Given the description of an element on the screen output the (x, y) to click on. 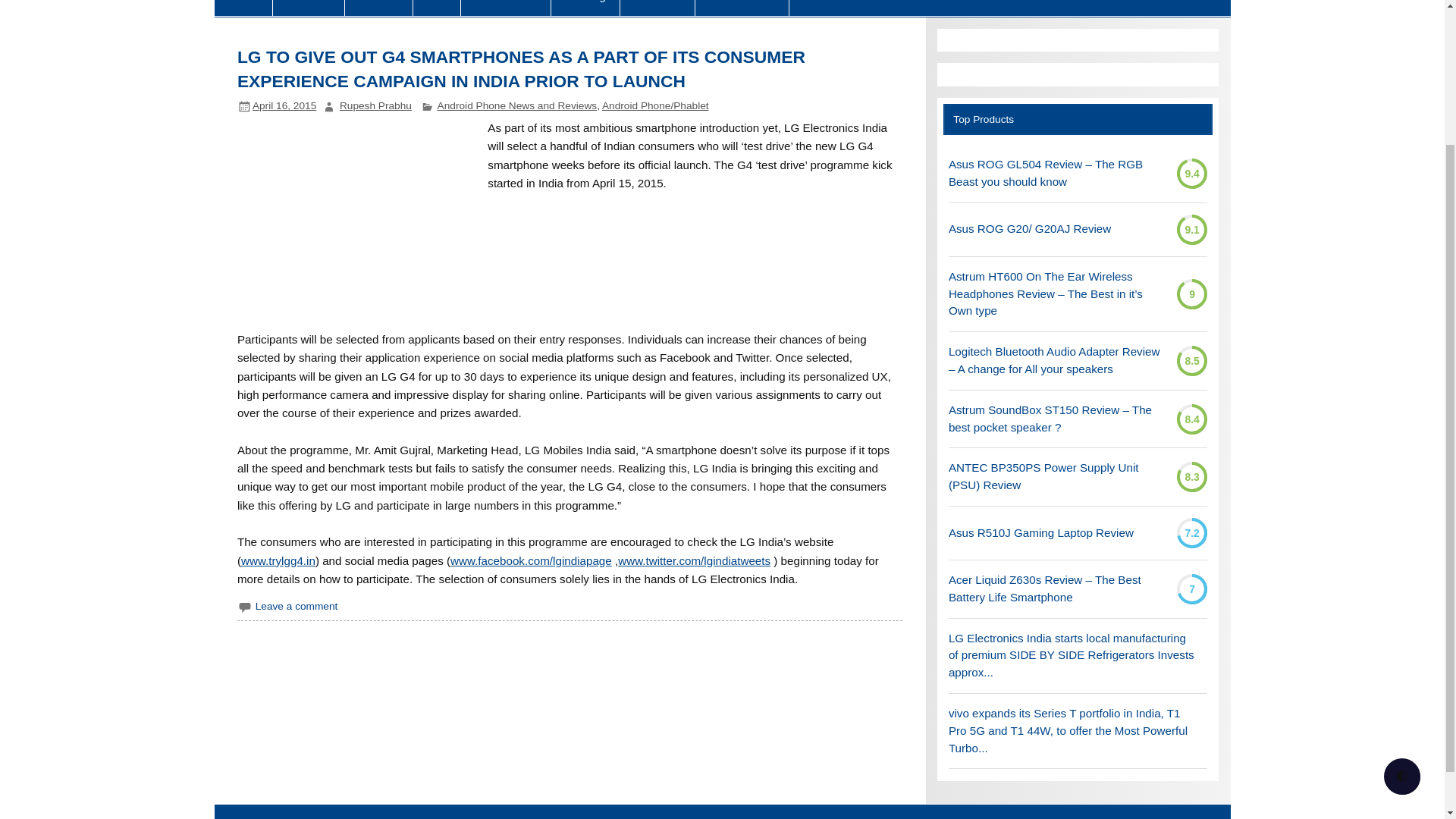
Leave a comment (299, 605)
7:49 pm (283, 105)
Rupesh Prabhu (375, 105)
Accessories (505, 7)
Asus ROG GL504 (1057, 173)
iOS (436, 7)
Mobile News (742, 7)
Asus ROG G20 (1029, 229)
Astrum HT600 (1057, 294)
Windows (657, 7)
